Given the description of an element on the screen output the (x, y) to click on. 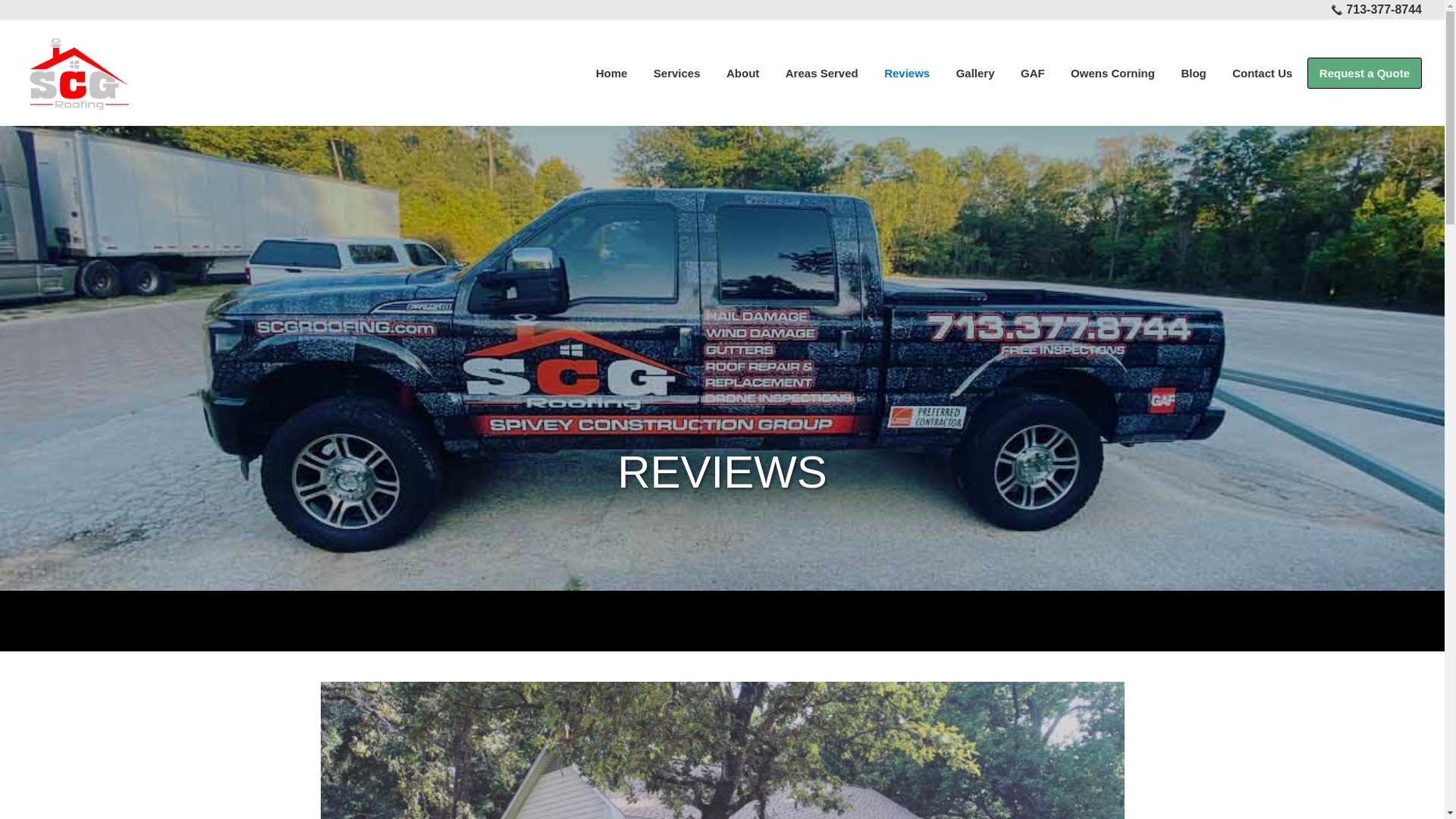
Home (612, 71)
Request a Quote (1364, 72)
Services (676, 71)
713-377-8744 (1383, 9)
Blog (1193, 71)
Owens Corning (1112, 71)
Contact Us (1262, 71)
Gallery (975, 71)
GAF (1033, 71)
About (742, 71)
Reviews (906, 71)
Areas Served (821, 71)
